Given the description of an element on the screen output the (x, y) to click on. 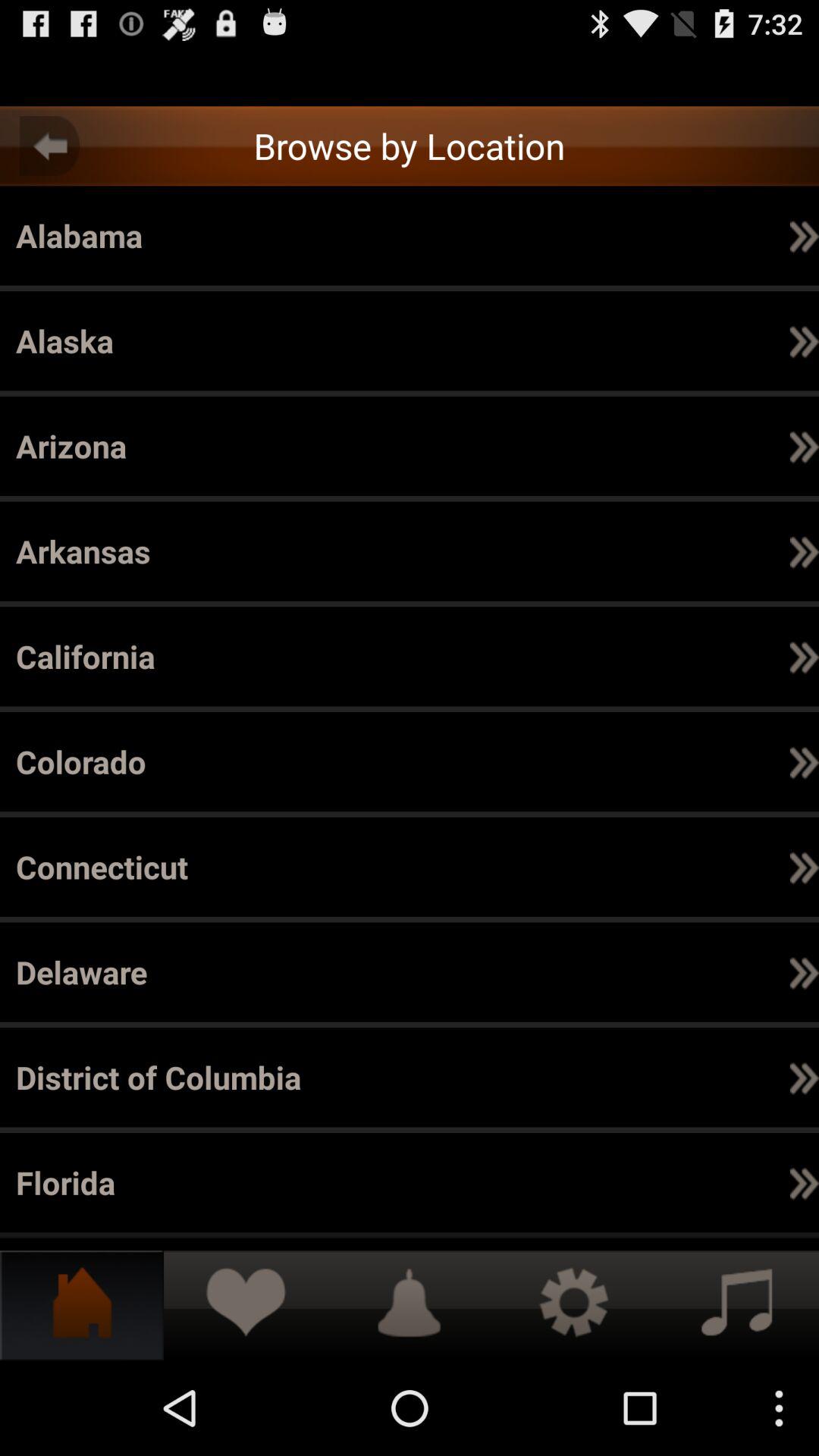
open the   icon (804, 550)
